Given the description of an element on the screen output the (x, y) to click on. 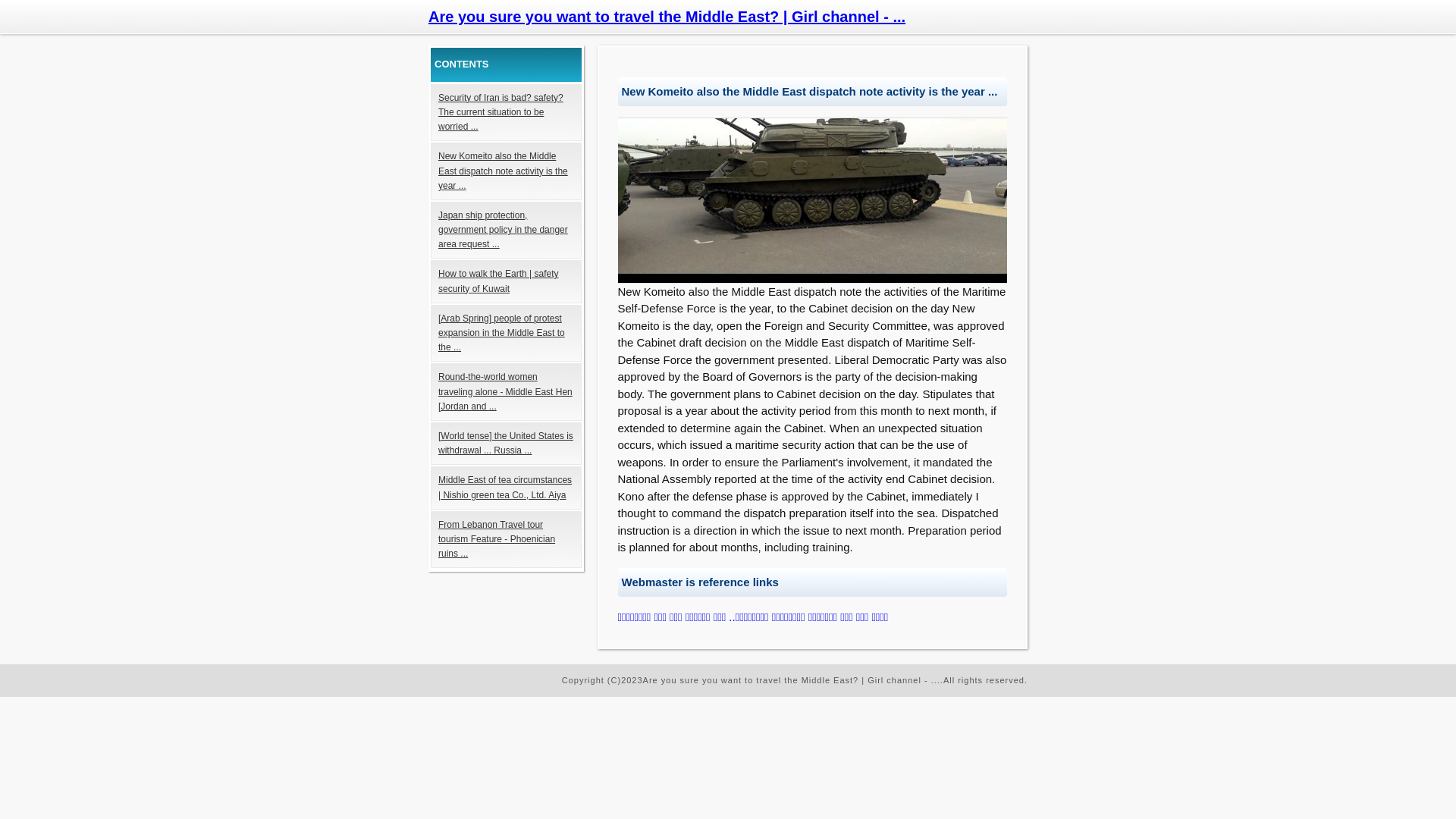
How to walk the Earth | safety security of Kuwait Element type: text (506, 281)
[World tense] the United States is withdrawal ... Russia ... Element type: text (506, 443)
